Given the description of an element on the screen output the (x, y) to click on. 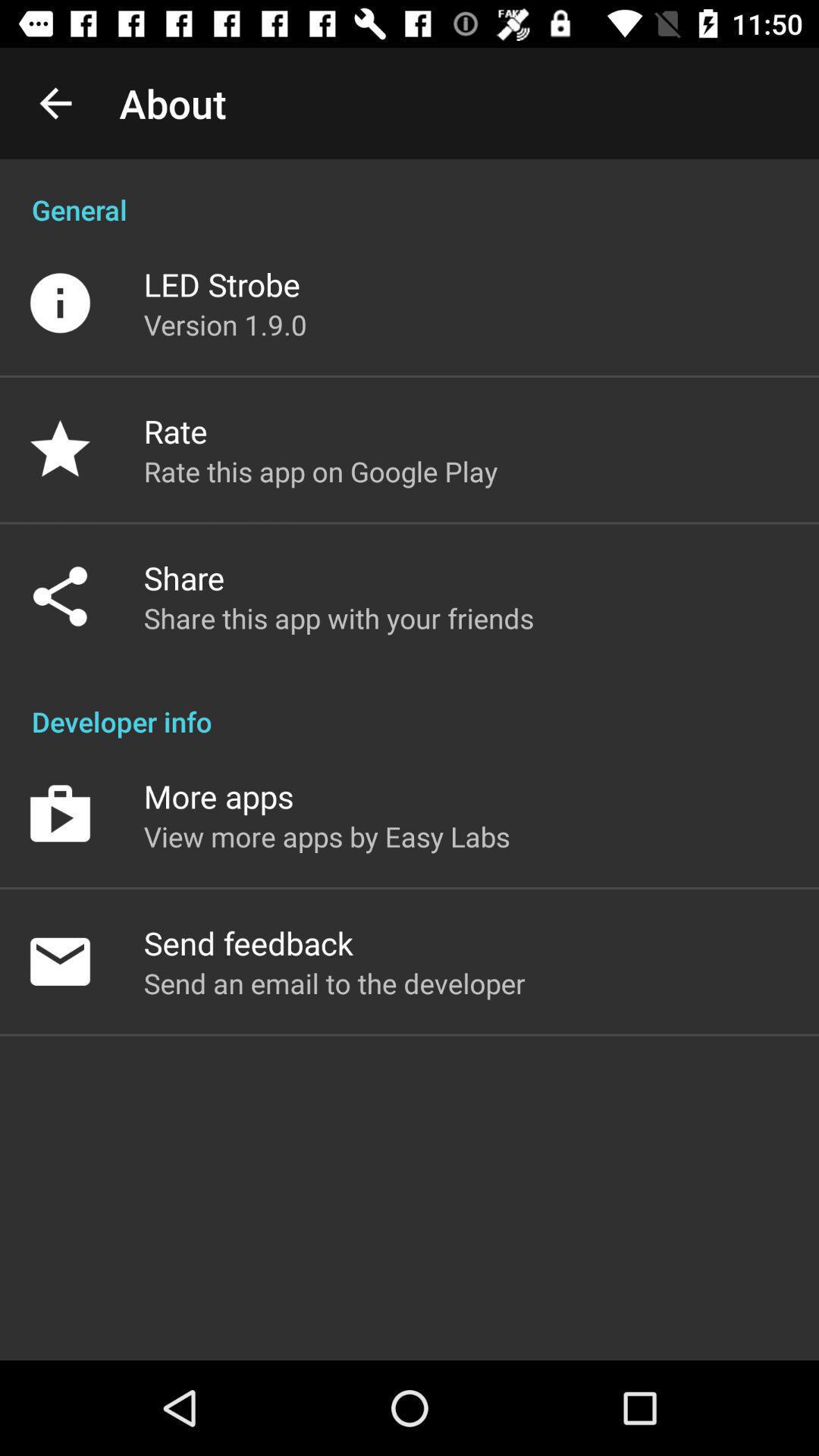
scroll until version 1 9 icon (225, 324)
